Given the description of an element on the screen output the (x, y) to click on. 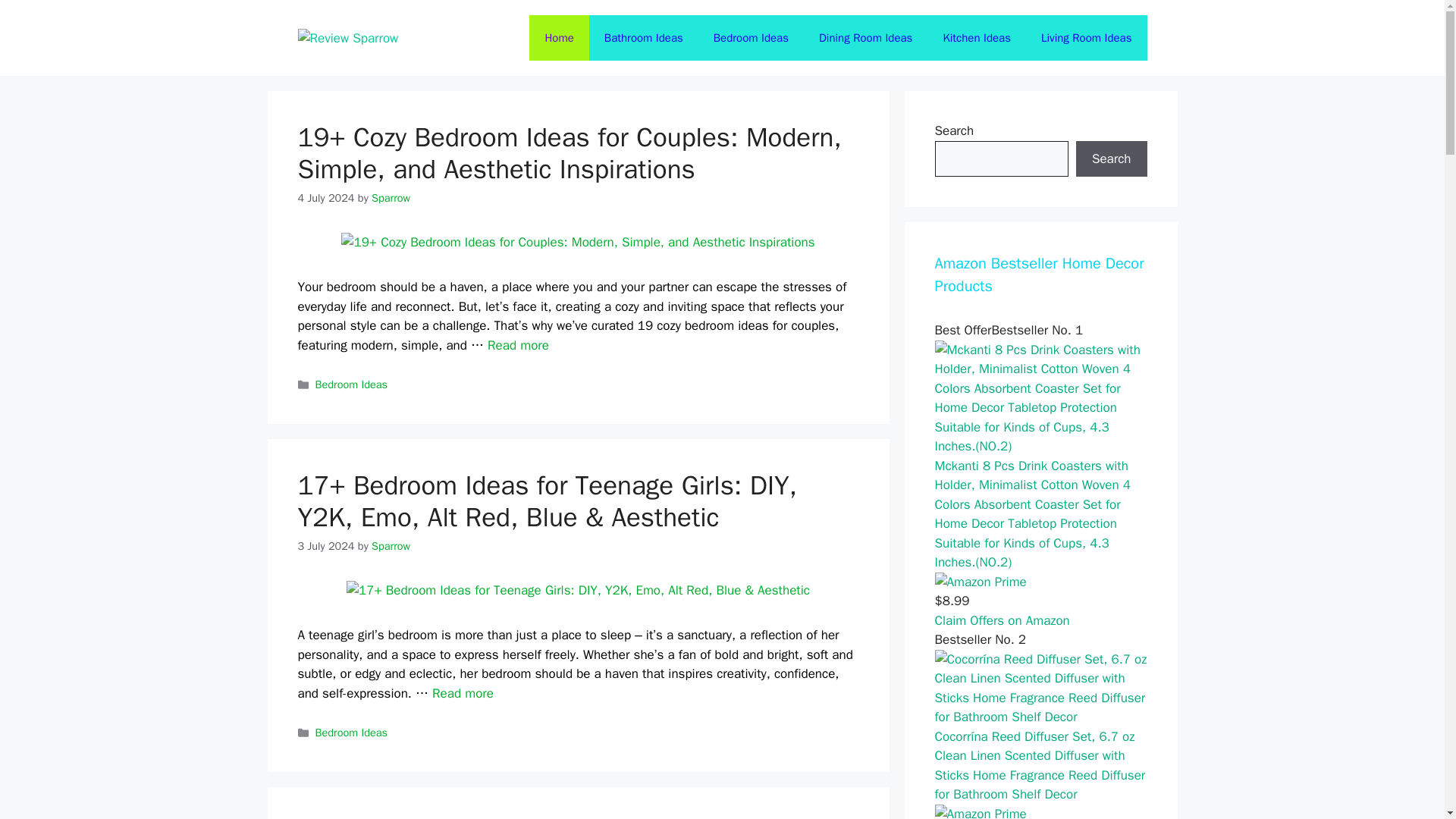
Kitchen Ideas (976, 37)
Sparrow (390, 197)
Bedroom Ideas (351, 384)
Sparrow (390, 545)
View all posts by Sparrow (390, 545)
Read more (517, 344)
Bedroom Ideas (351, 732)
Dining Room Ideas (865, 37)
View all posts by Sparrow (390, 197)
Living Room Ideas (1086, 37)
